Given the description of an element on the screen output the (x, y) to click on. 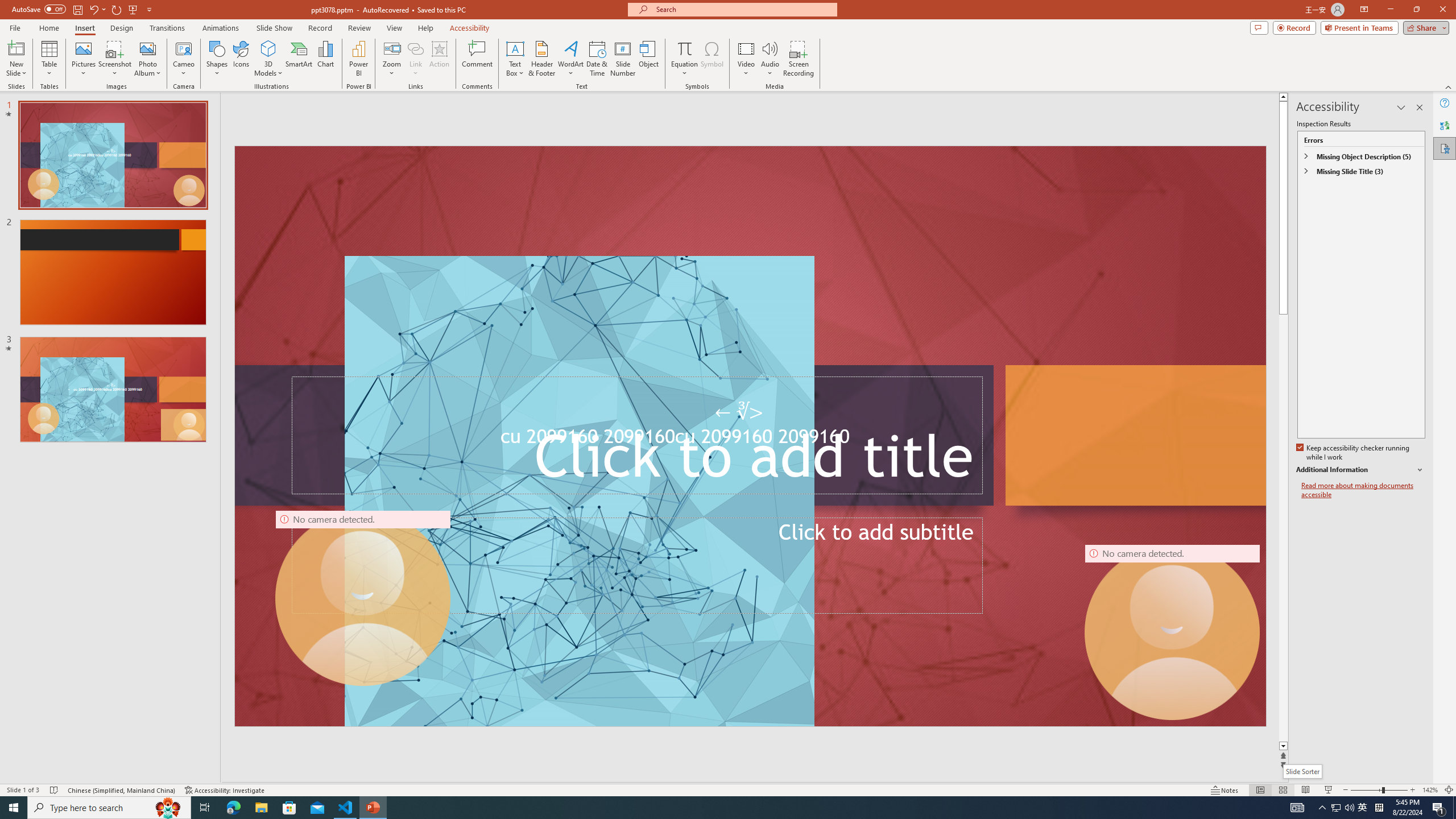
Equation (683, 48)
Power BI (358, 58)
Additional Information (1360, 469)
Symbol... (711, 58)
File Tab (15, 27)
Accessibility Checker Accessibility: Investigate (224, 790)
Home (48, 28)
Subtitle TextBox (636, 565)
Icons (240, 58)
Header & Footer... (541, 58)
Design (122, 28)
Collapse the Ribbon (1448, 86)
Animations (220, 28)
